Given the description of an element on the screen output the (x, y) to click on. 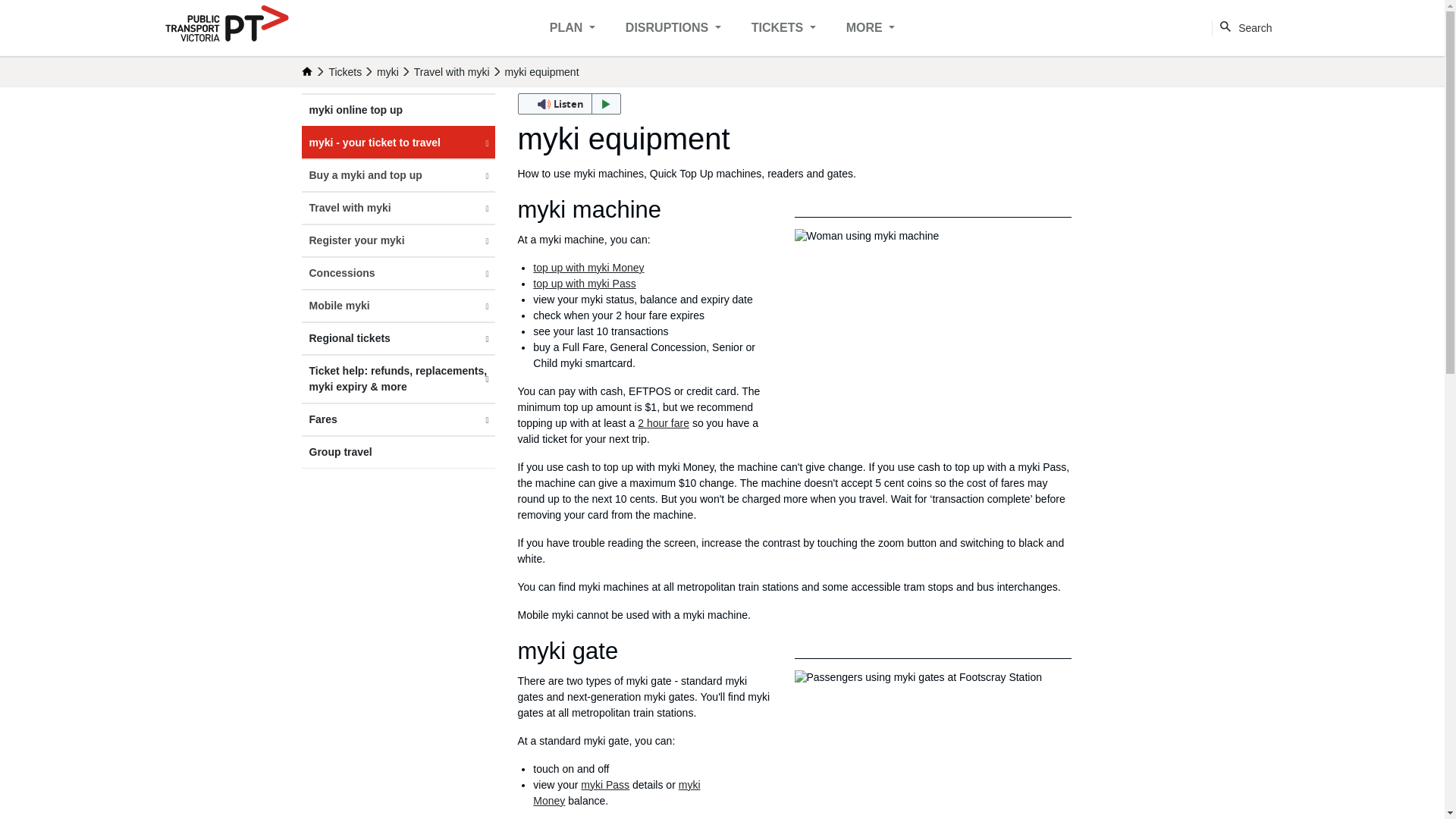
PTV home page (226, 24)
TICKETS (783, 28)
Link to myki Pass page (604, 784)
DISRUPTIONS (673, 28)
Link to myki Pass page (583, 283)
Search (1245, 27)
Link to Metropolitan fares page (662, 422)
Link to myki Money page (616, 792)
Link to myki Money page (587, 267)
Listen to this page using ReadSpeaker webReader (568, 103)
